Given the description of an element on the screen output the (x, y) to click on. 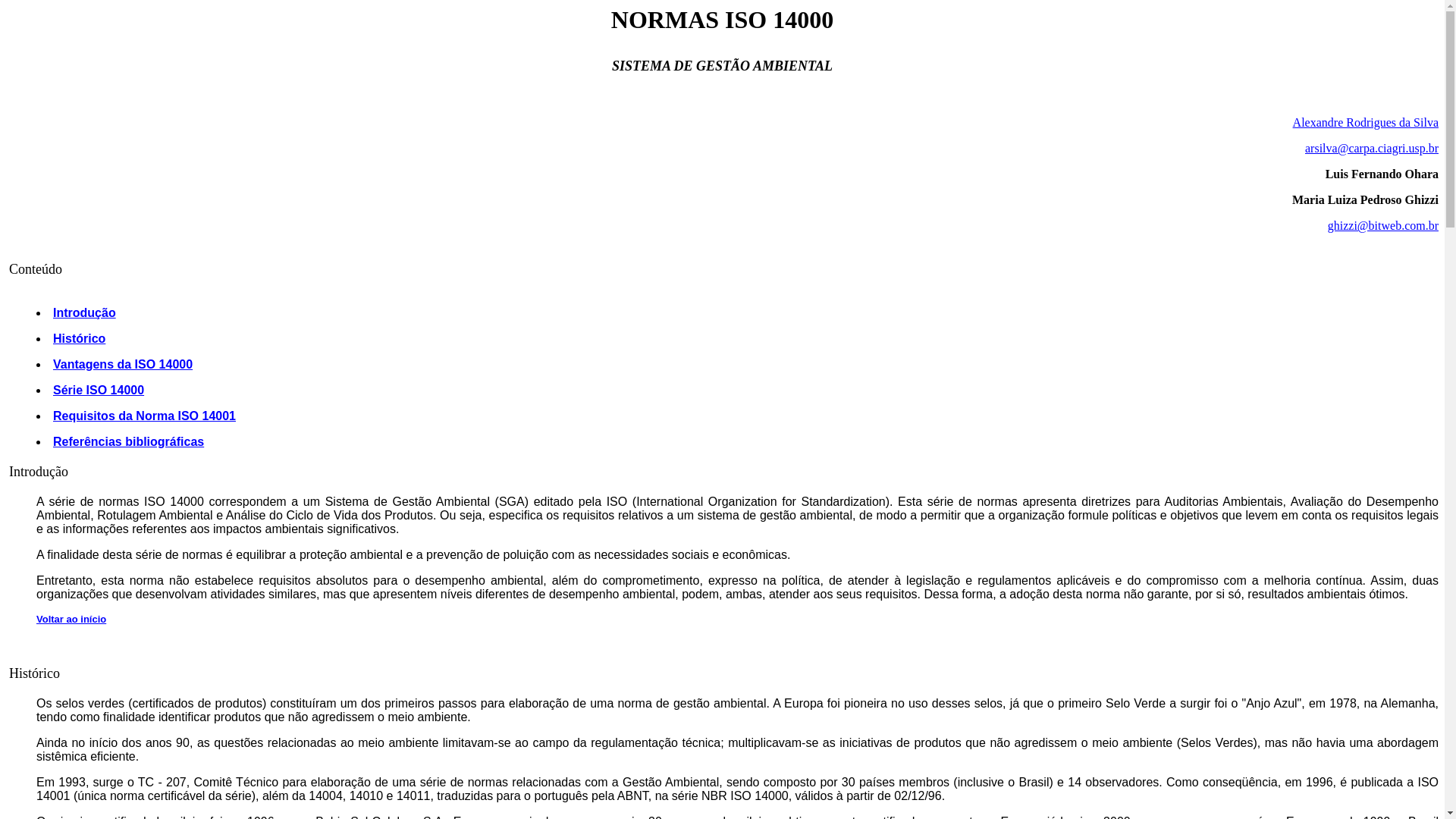
Alexandre Rodrigues da Silva Element type: text (1365, 122)
Vantagens da ISO 14000 Element type: text (122, 363)
arsilva@carpa.ciagri.usp.br Element type: text (1371, 147)
ghizzi@bitweb.com.br Element type: text (1382, 225)
Requisitos da Norma ISO 14001 Element type: text (144, 415)
